Given the description of an element on the screen output the (x, y) to click on. 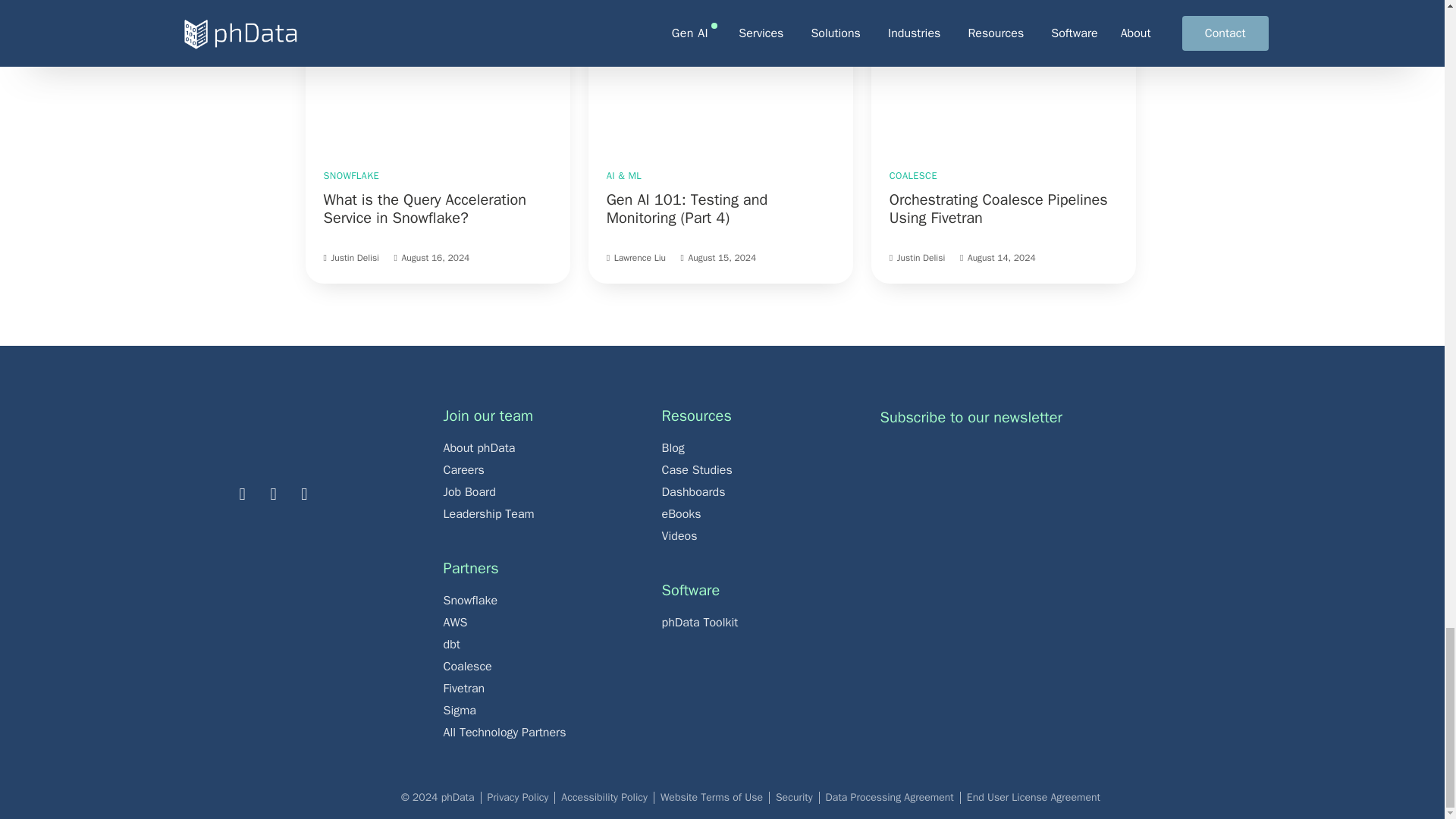
Posts by Lawrence Liu (639, 257)
Posts by Justin Delisi (920, 257)
Posts by Justin Delisi (354, 257)
